Given the description of an element on the screen output the (x, y) to click on. 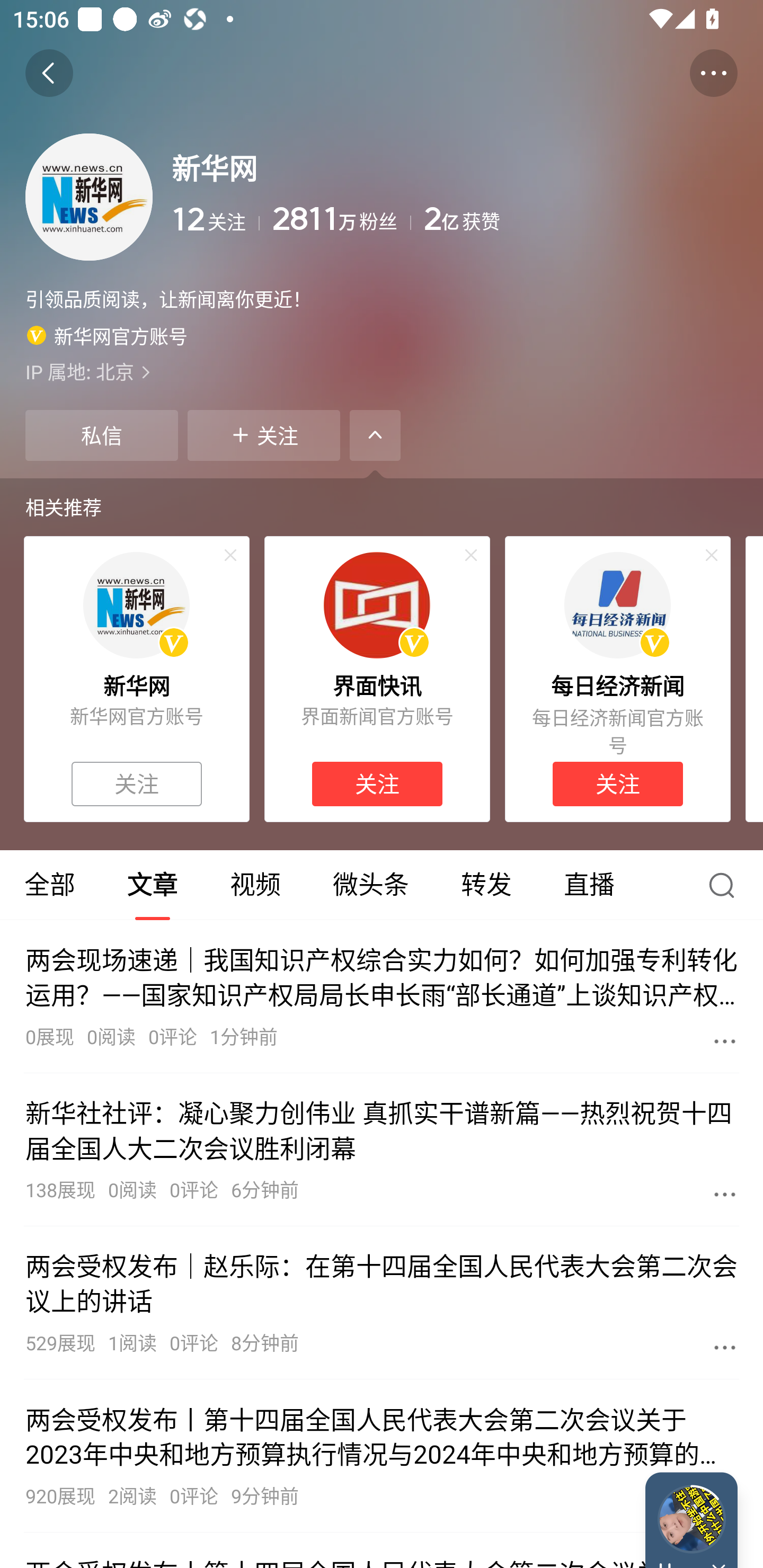
返回 (49, 72)
更多操作 (713, 72)
头像 (88, 196)
12 关注 (215, 219)
2811万 粉丝 (341, 219)
2亿 获赞 (580, 219)
新华网官方账号 (106, 335)
IP 属地: 北京 (381, 371)
私信 (101, 434)
     关注 (263, 434)
展开相关推荐，按钮 (374, 434)
新华网头像 新华网 新华网官方账号 关注 关注 不感兴趣 (136, 678)
不感兴趣 (230, 554)
界面快讯头像 界面快讯 界面新闻官方账号 关注 关注 不感兴趣 (376, 678)
不感兴趣 (470, 554)
每日经济新闻头像 每日经济新闻 每日经济新闻官方账号 关注 关注 不感兴趣 (617, 678)
不感兴趣 (711, 554)
新华网头像 (136, 604)
界面快讯头像 (376, 604)
每日经济新闻头像 (617, 604)
关注 (136, 783)
关注 (377, 783)
关注 (617, 783)
全部 (50, 884)
文章 (152, 884)
视频 (254, 884)
微头条 (370, 884)
转发 (485, 884)
直播 (588, 884)
搜索 (726, 884)
更多 (724, 1040)
更多 (724, 1193)
更多 (724, 1346)
当前进度 14% (691, 1518)
